Given the description of an element on the screen output the (x, y) to click on. 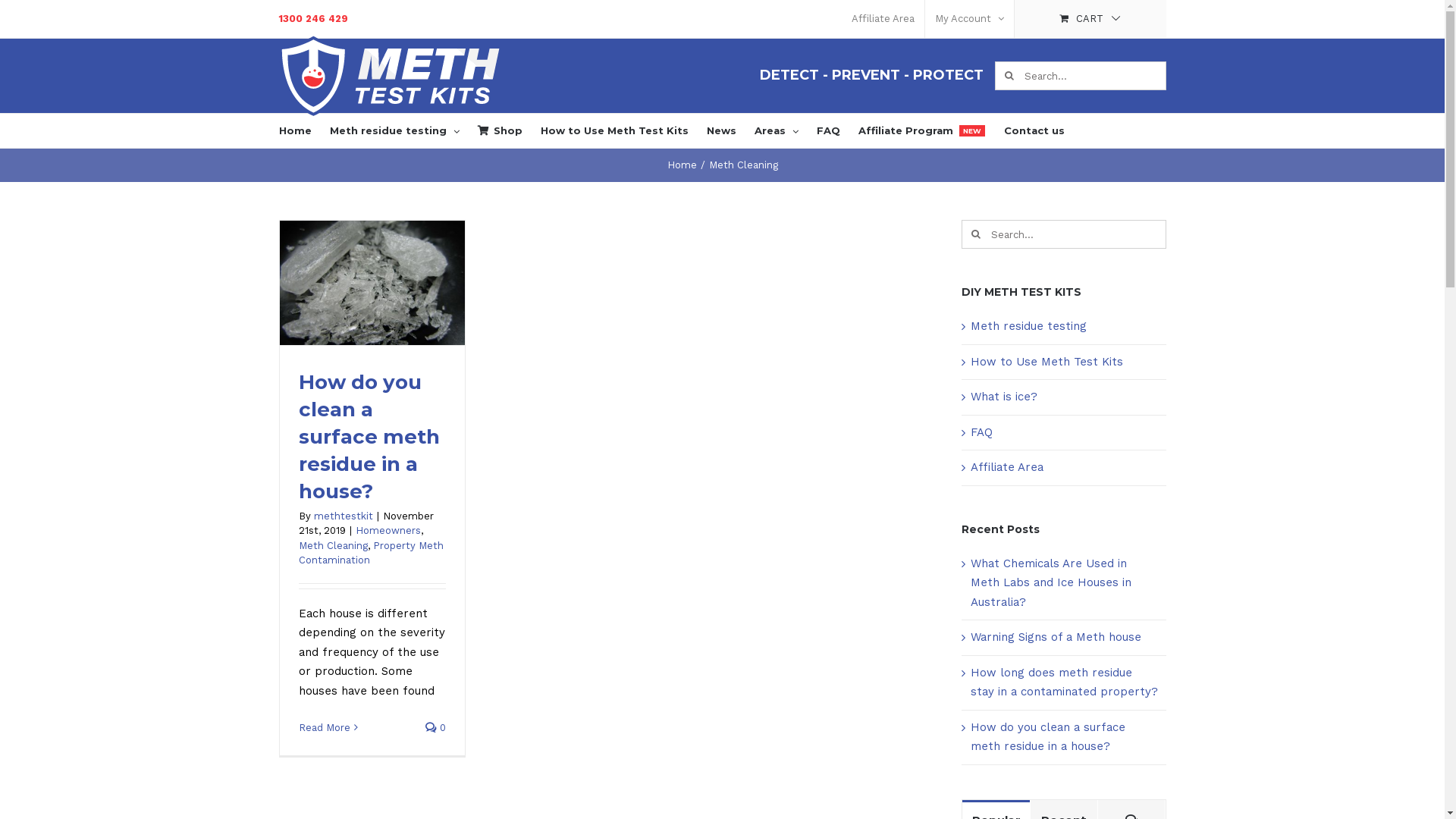
Property Meth Contamination Element type: text (370, 552)
How to Use Meth Test Kits Element type: text (1046, 361)
FAQ Element type: text (828, 130)
My Account Element type: text (969, 18)
1300 246 429 Element type: text (313, 18)
Meth residue testing Element type: text (1028, 325)
How do you clean a surface meth residue in a house? Element type: text (368, 436)
How do you clean a surface meth residue in a house? Element type: text (1047, 736)
Affiliate Area Element type: text (882, 18)
How long does meth residue stay in a contaminated property? Element type: text (1063, 682)
FAQ Element type: text (981, 432)
News Element type: text (721, 130)
Areas Element type: text (776, 130)
Log In Element type: text (1026, 162)
methtestkit Element type: text (343, 514)
Warning Signs of a Meth house Element type: text (1055, 636)
Homeowners Element type: text (387, 530)
Contact us Element type: text (1034, 130)
Affiliate Program
NEW Element type: text (921, 130)
How to Use Meth Test Kits Element type: text (614, 130)
Shop Element type: text (500, 130)
Meth Cleaning Element type: text (332, 545)
Affiliate Area Element type: text (1006, 466)
What is ice? Element type: text (1003, 396)
Read More Element type: text (324, 727)
Meth residue testing Element type: text (393, 130)
Home Element type: text (295, 130)
CART Element type: text (1090, 18)
Home Element type: text (681, 164)
 0 Element type: text (435, 727)
